Given the description of an element on the screen output the (x, y) to click on. 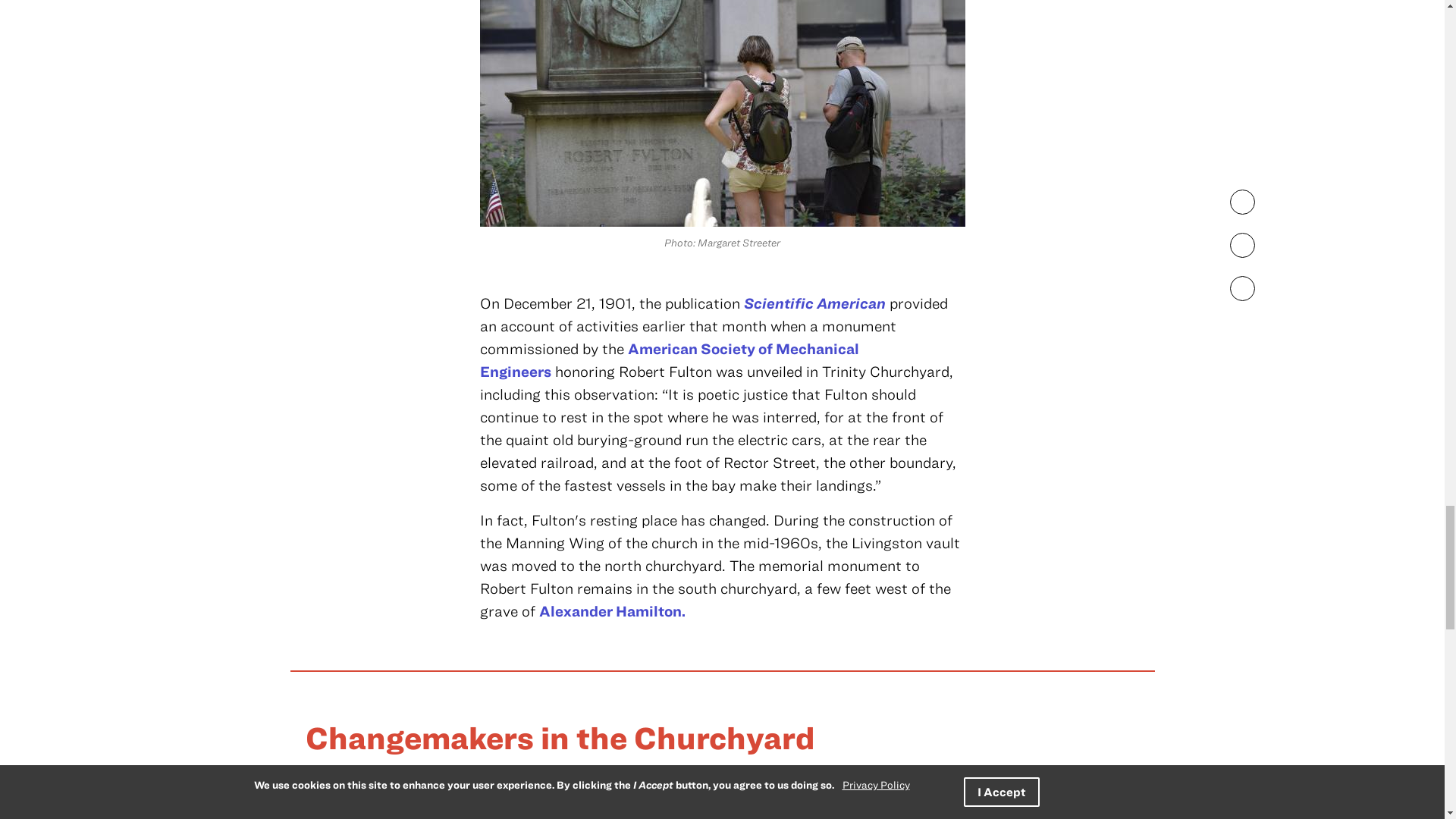
Alexander Hamilton. (611, 610)
American Society of Mechanical Engineers (669, 359)
Scientific American (813, 303)
